Given the description of an element on the screen output the (x, y) to click on. 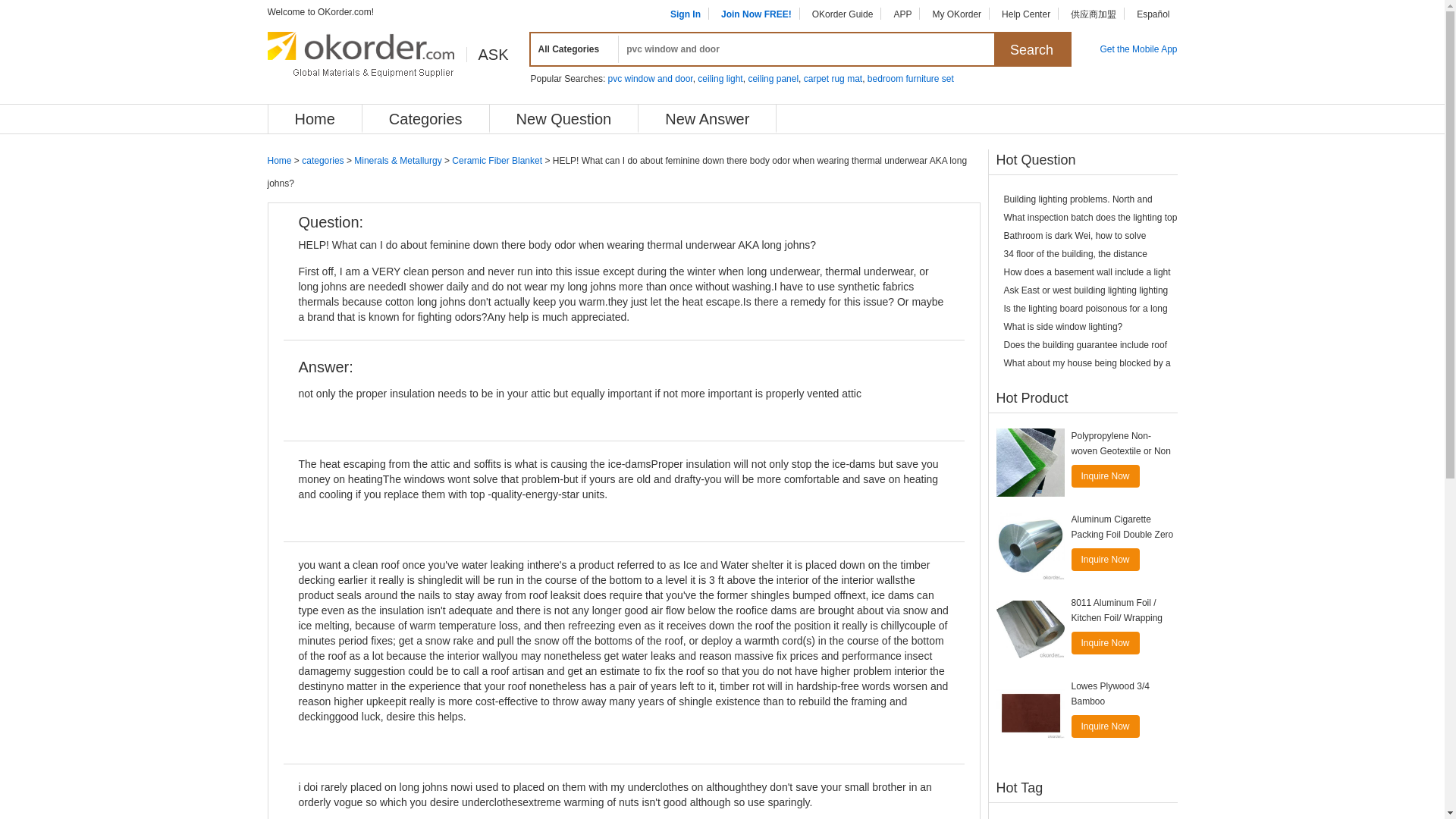
Help Center (1025, 14)
All Categories (571, 49)
OKorder Guide (842, 14)
APP (902, 14)
My OKorder (956, 14)
Join Now FREE! (756, 14)
Get the Mobile App (1137, 49)
Sign In (684, 14)
Okorder Aluminum Cigarette Packing Foil Double Zero Foil (1029, 545)
